Given the description of an element on the screen output the (x, y) to click on. 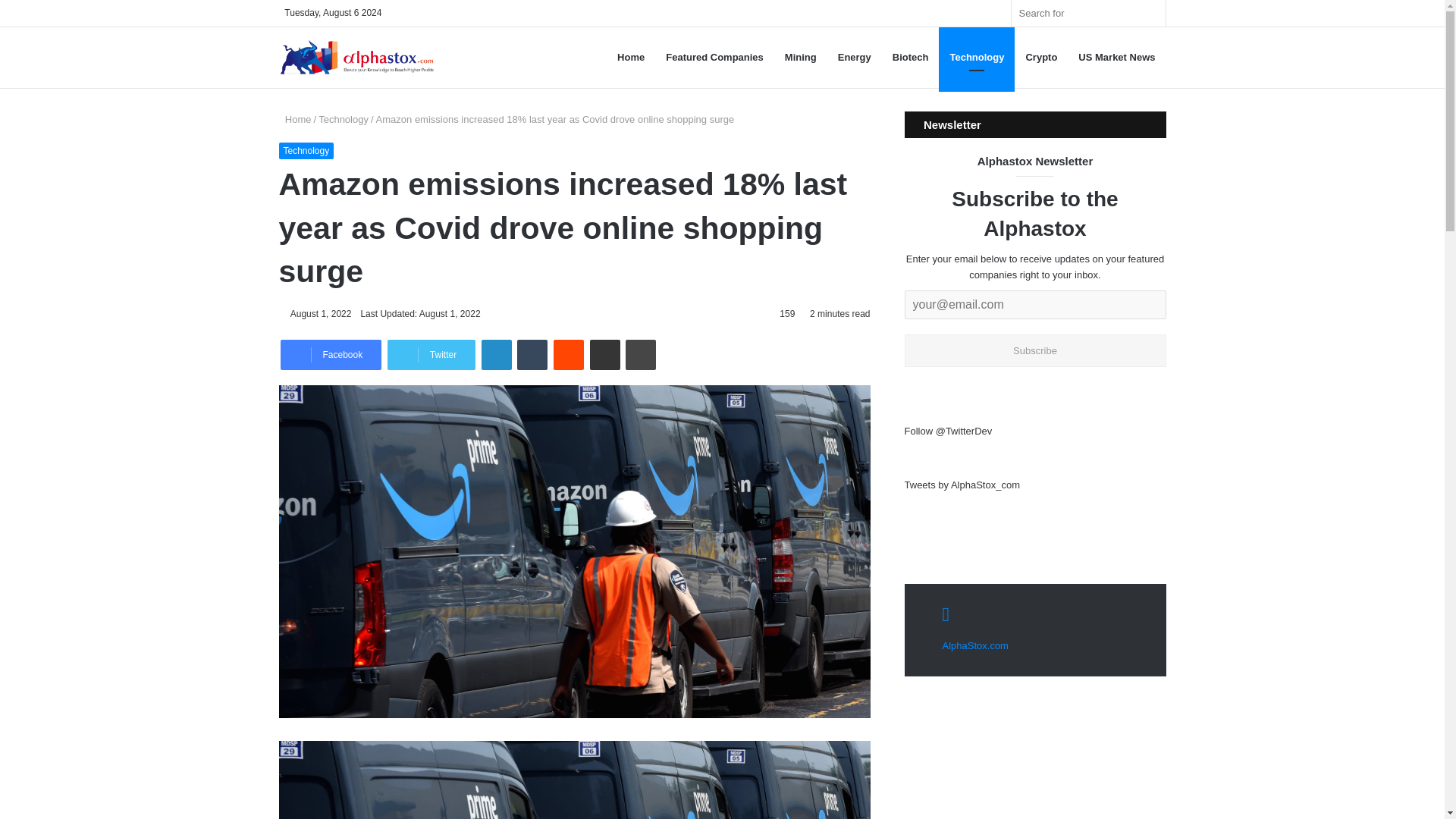
Print (641, 354)
Facebook (331, 354)
Share via Email (604, 354)
Tumblr (531, 354)
Energy (854, 57)
Alphastox (356, 57)
Twitter (431, 354)
Search for (1149, 13)
LinkedIn (496, 354)
Featured Companies (714, 57)
